Given the description of an element on the screen output the (x, y) to click on. 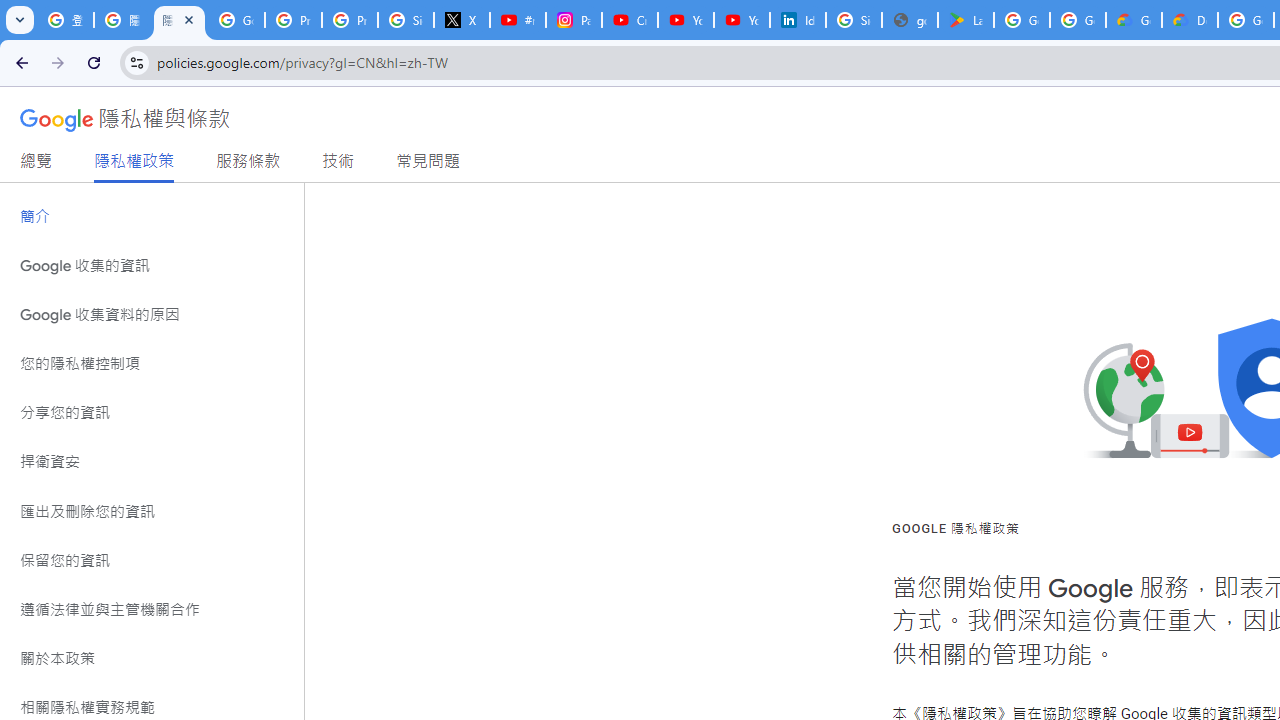
Google Workspace - Specific Terms (1077, 20)
Sign in - Google Accounts (405, 20)
#nbabasketballhighlights - YouTube (518, 20)
Privacy Help Center - Policies Help (293, 20)
